Given the description of an element on the screen output the (x, y) to click on. 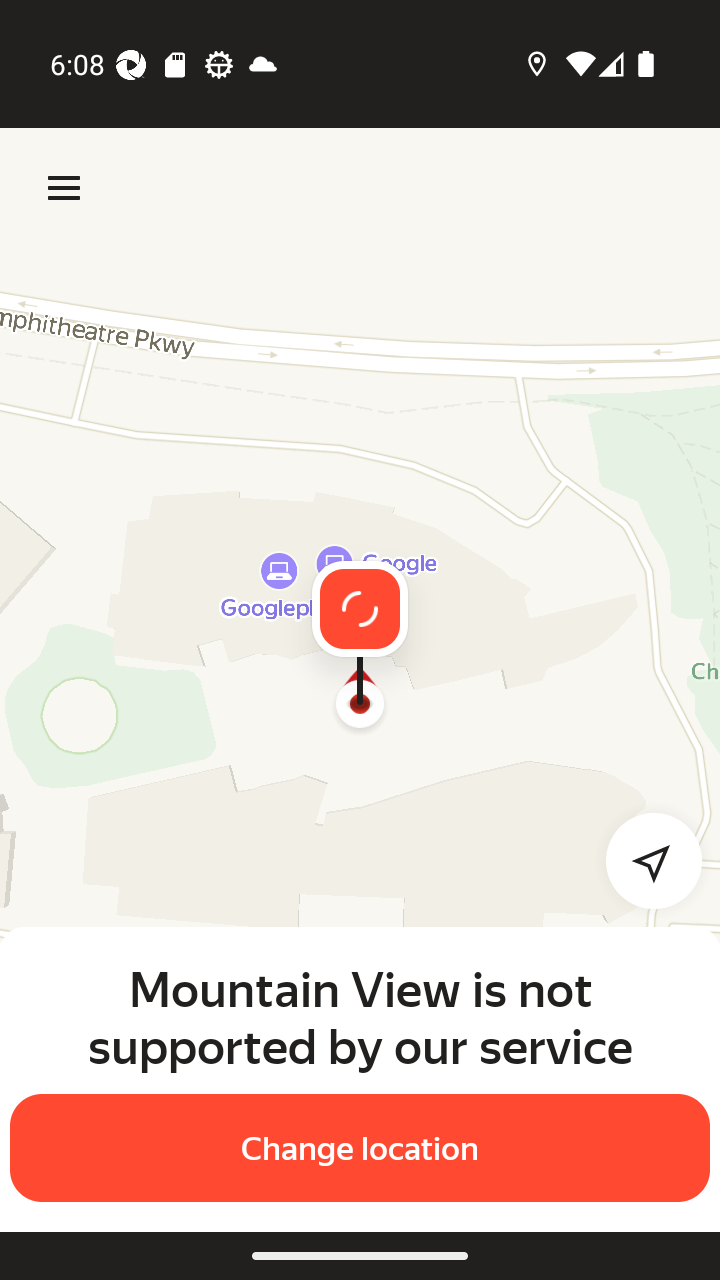
Menu Menu Menu (64, 188)
Detect my location (641, 860)
Mountain View is not supported by our service (360, 1017)
Change location (359, 1147)
